Given the description of an element on the screen output the (x, y) to click on. 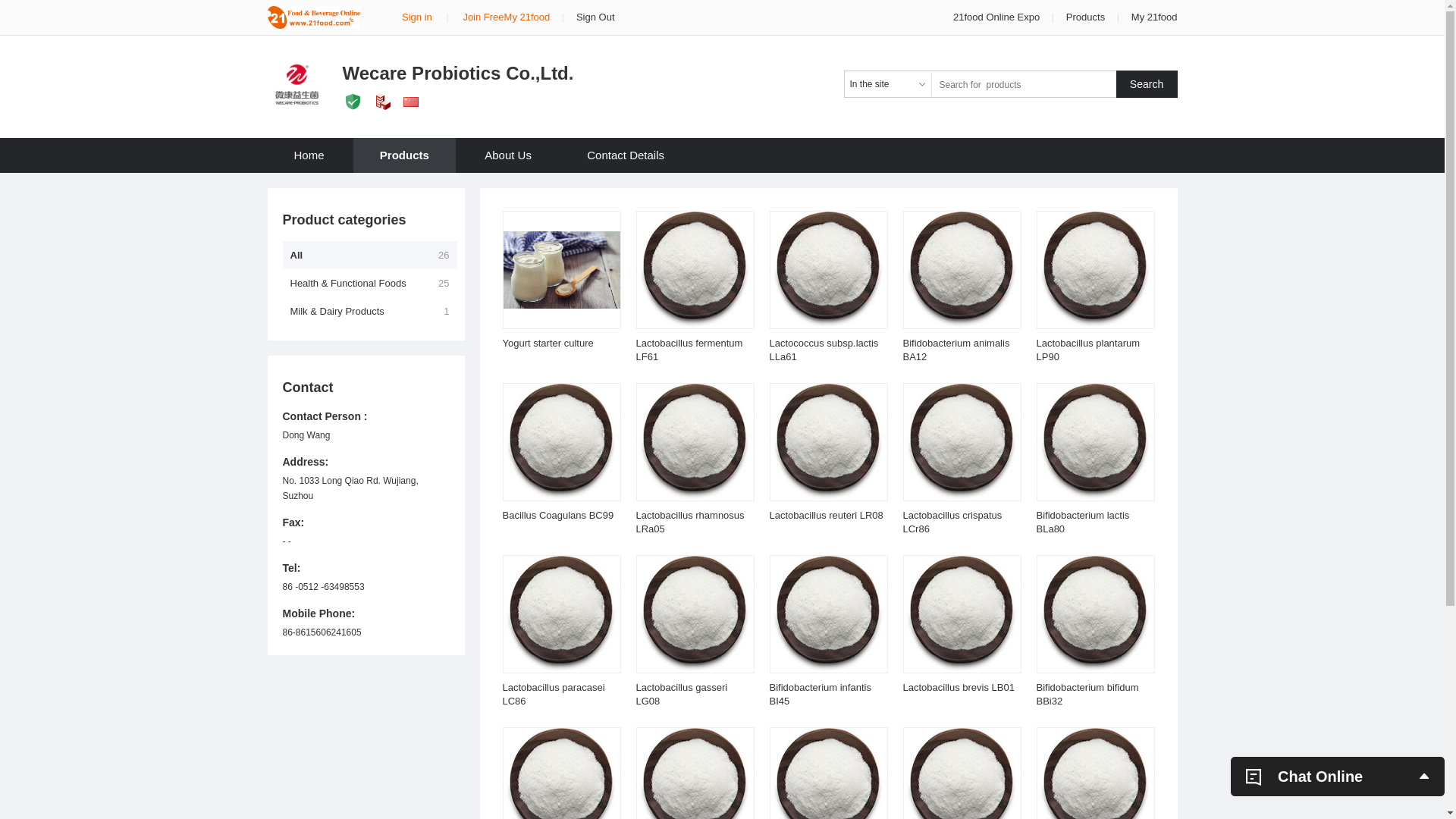
Lactobacillus paracasei LC86 Element type: text (553, 693)
Products Element type: text (1085, 16)
Lactobacillus plantarum LP90 Element type: text (1087, 349)
Lactobacillus crispatus LCr86 Element type: text (951, 521)
21food Online Expo Element type: text (997, 16)
Sign Out Element type: text (595, 16)
My 21food Element type: text (527, 16)
Sign in Element type: text (416, 16)
About Us Element type: text (508, 155)
Bifidobacterium animalis BA12 Element type: text (955, 349)
Join Free Element type: text (482, 16)
Lactobacillus fermentum LF61 Element type: text (688, 349)
Lactobacillus gasseri LG08 Element type: text (681, 693)
Lactobacillus rhamnosus LRa05 Element type: text (689, 521)
Products Element type: text (404, 155)
Contact Details Element type: text (625, 155)
My 21food Element type: text (1154, 16)
Bacillus Coagulans BC99 Element type: text (557, 514)
Home Element type: text (308, 155)
Lactobacillus brevis LB01 Element type: text (957, 687)
Search Element type: text (1146, 83)
Lactococcus subsp.lactis LLa61 Element type: text (823, 349)
Bifidobacterium lactis BLa80 Element type: text (1082, 521)
Yogurt starter culture Element type: text (547, 342)
Bifidobacterium infantis BI45 Element type: text (819, 693)
Bifidobacterium bifidum BBi32 Element type: text (1086, 693)
Lactobacillus reuteri LR08 Element type: text (825, 514)
